Given the description of an element on the screen output the (x, y) to click on. 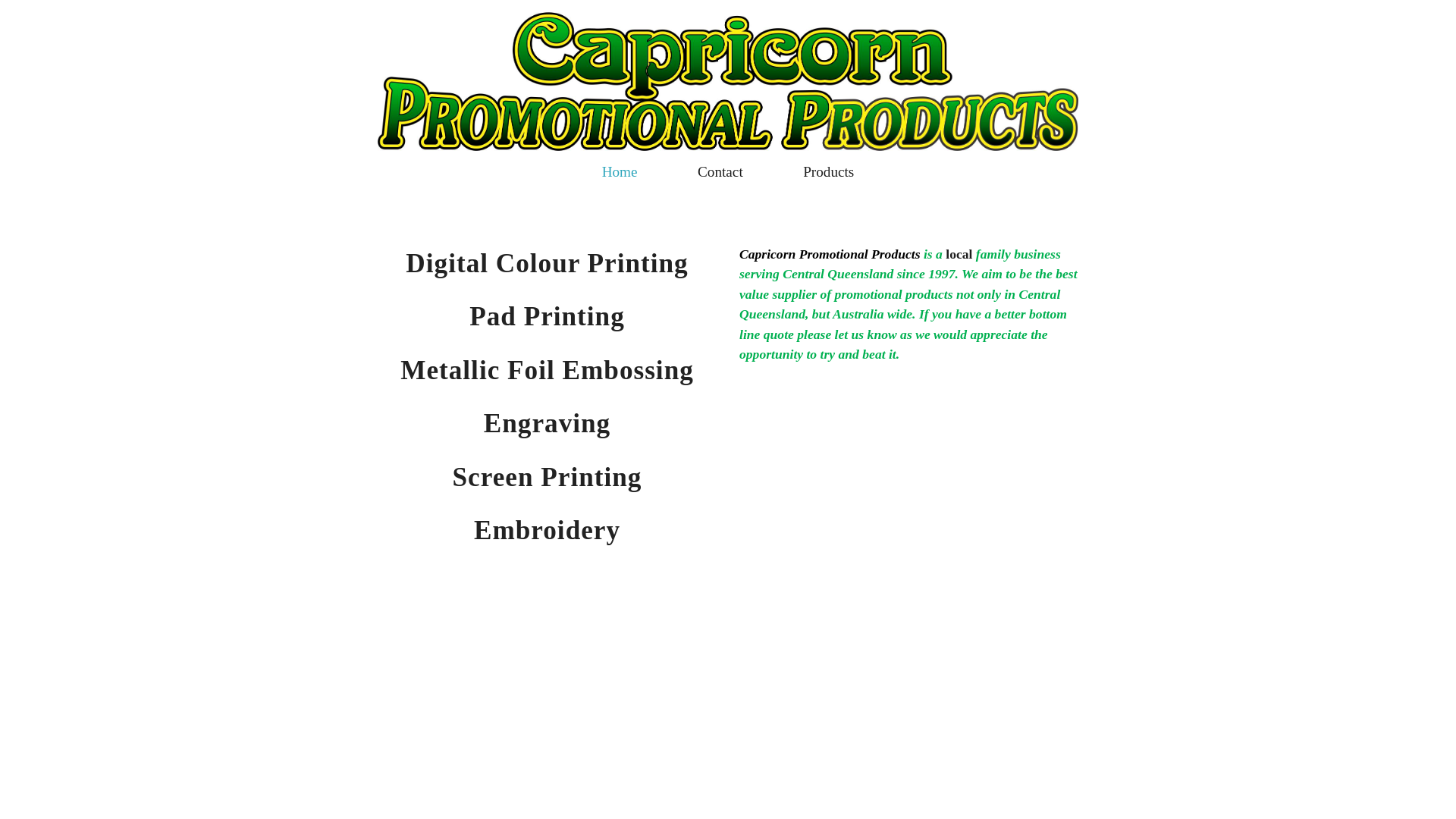
Contact Element type: text (720, 171)
Home Element type: text (619, 171)
Products Element type: text (828, 171)
